Given the description of an element on the screen output the (x, y) to click on. 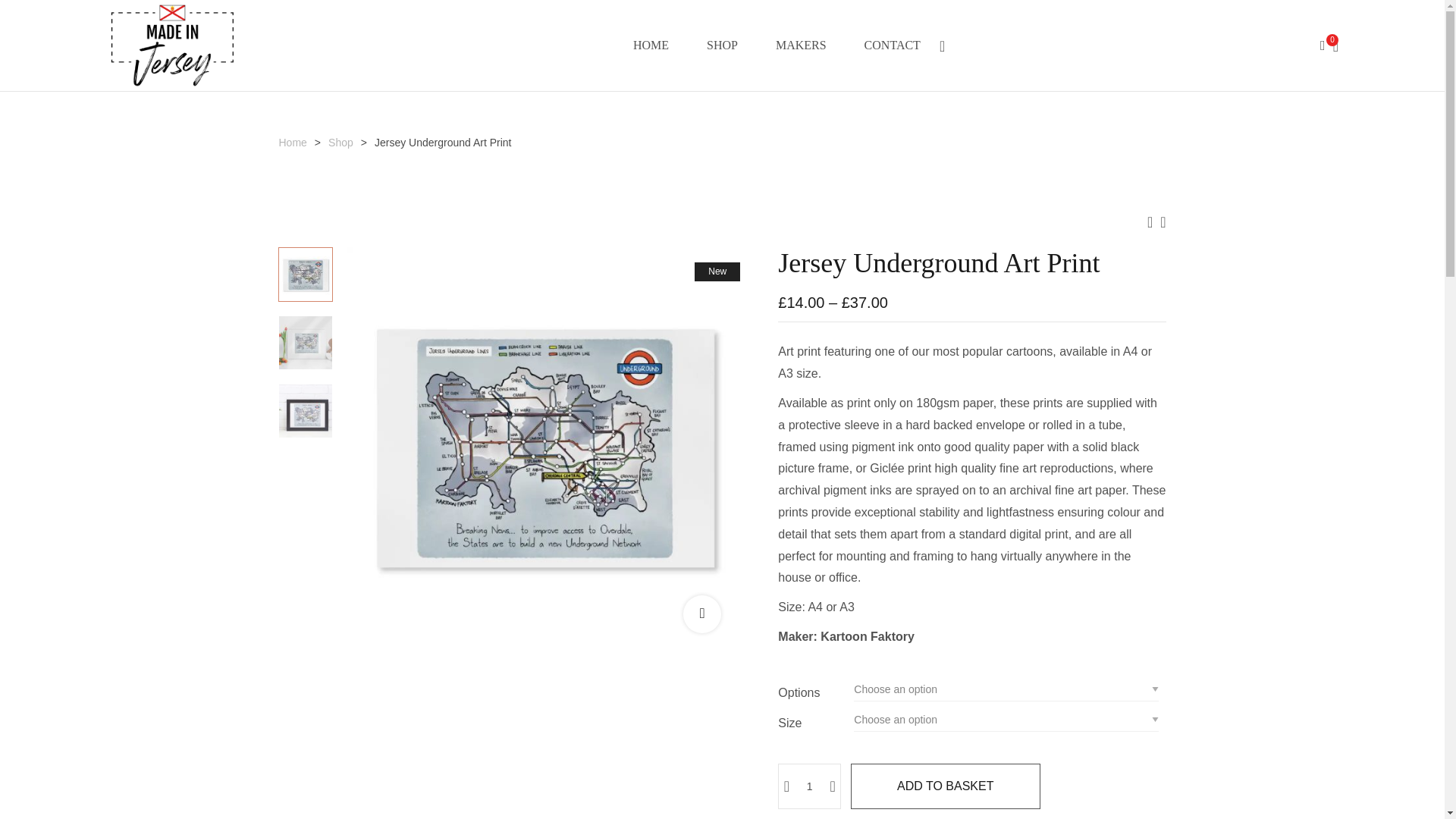
HOME (650, 45)
MAKERS (801, 45)
Home (293, 142)
SHOP (722, 45)
CONTACT (892, 45)
Shop (341, 142)
